Given the description of an element on the screen output the (x, y) to click on. 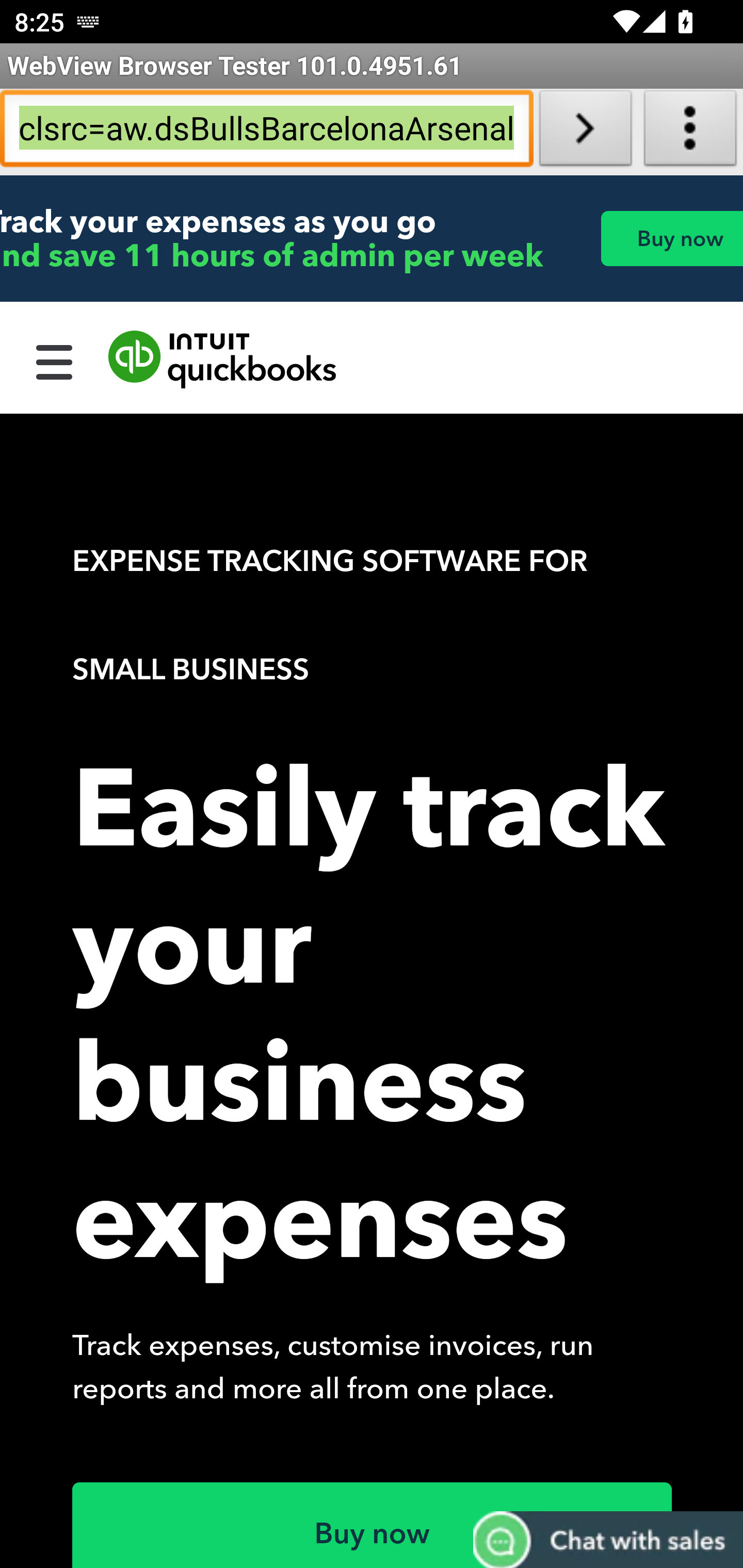
Load URL (585, 132)
About WebView (690, 132)
Buy now (671, 238)
quickbooks-mobile-burger (54, 359)
quickbooks (222, 359)
Buy now (372, 1524)
